Given the description of an element on the screen output the (x, y) to click on. 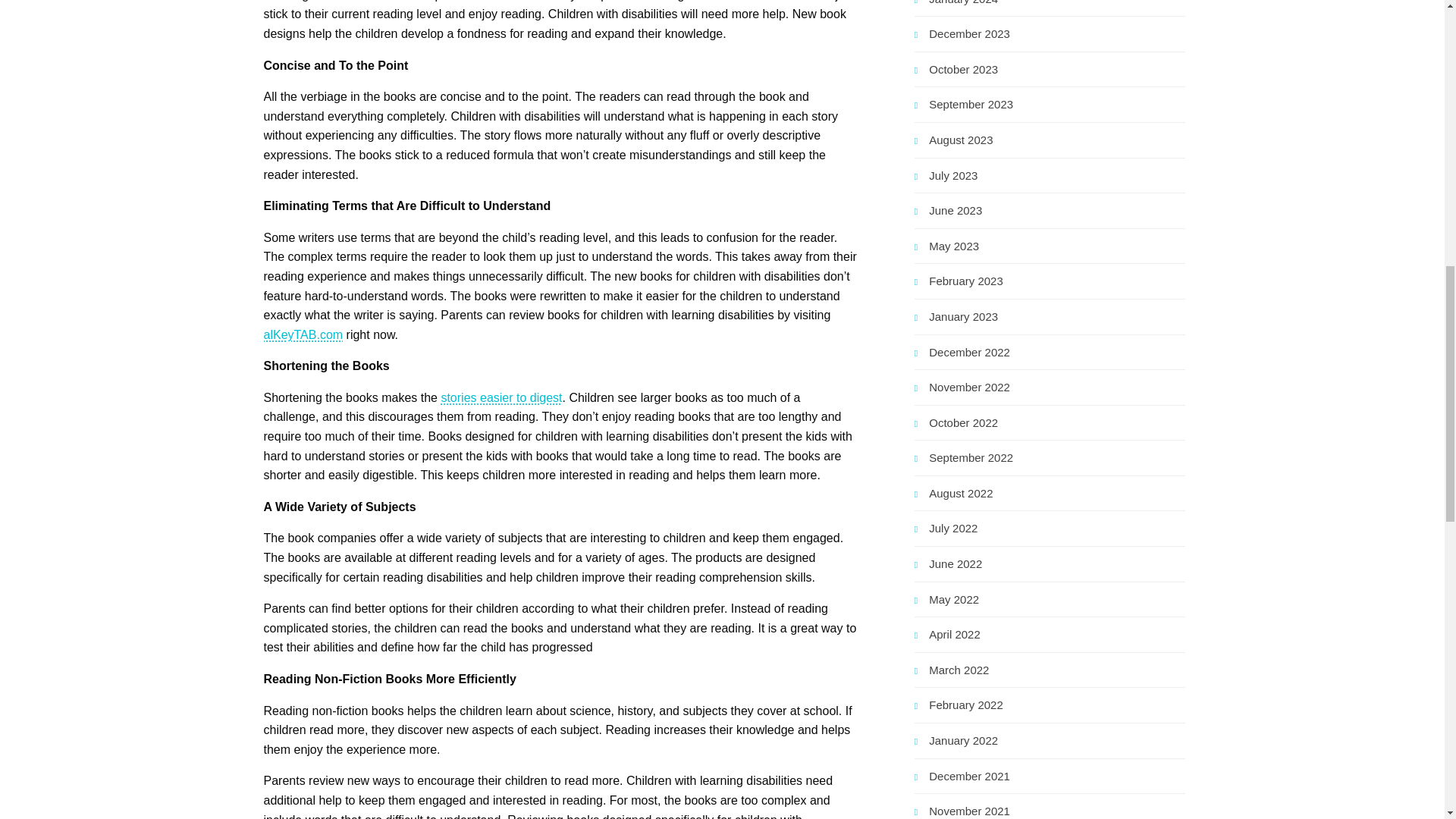
stories easier to digest (501, 397)
alKeyTAB.com (303, 334)
